Given the description of an element on the screen output the (x, y) to click on. 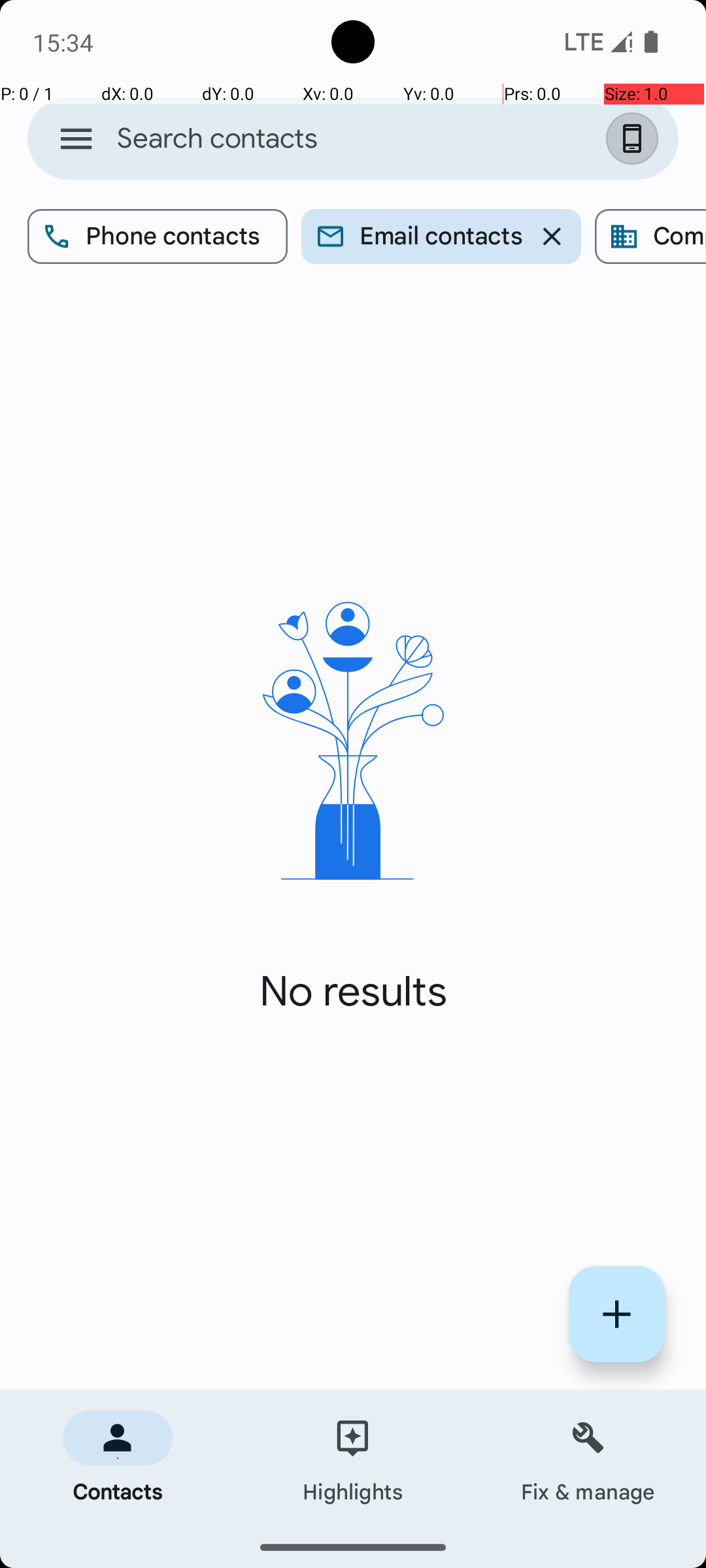
Create contact Element type: android.widget.ImageButton (616, 1314)
Contacts Element type: android.widget.FrameLayout (117, 1457)
Highlights Element type: android.widget.FrameLayout (352, 1457)
Fix & manage Element type: android.widget.FrameLayout (588, 1457)
Open navigation drawer Element type: android.widget.ImageButton (75, 138)
Signed in as Device
Account and settings. Element type: android.widget.FrameLayout (634, 138)
No results Element type: android.widget.TextView (353, 991)
Phone contacts Element type: android.widget.Button (157, 236)
Email contacts Element type: android.widget.Button (441, 236)
Company Element type: android.widget.Button (650, 236)
